Given the description of an element on the screen output the (x, y) to click on. 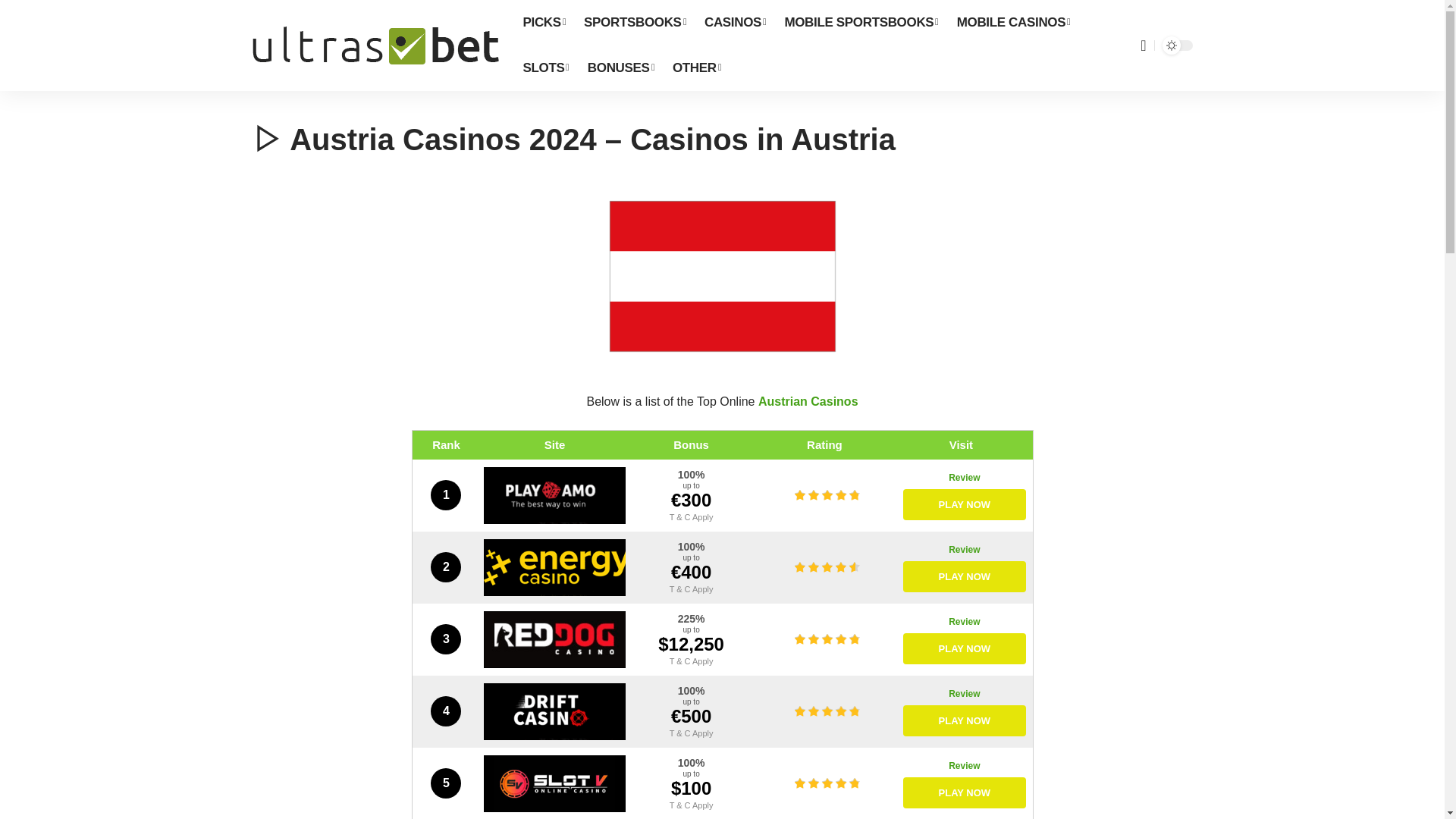
PlayAmo.com (964, 477)
driftcasino (691, 731)
playamo (691, 515)
EnergyCasino.com (553, 567)
RedDogCasino.com (553, 639)
EnergyCasino.com (964, 549)
slotv (691, 803)
SlotV.com (553, 783)
SPORTSBOOKS (635, 22)
PlayAmo.com (553, 495)
